Given the description of an element on the screen output the (x, y) to click on. 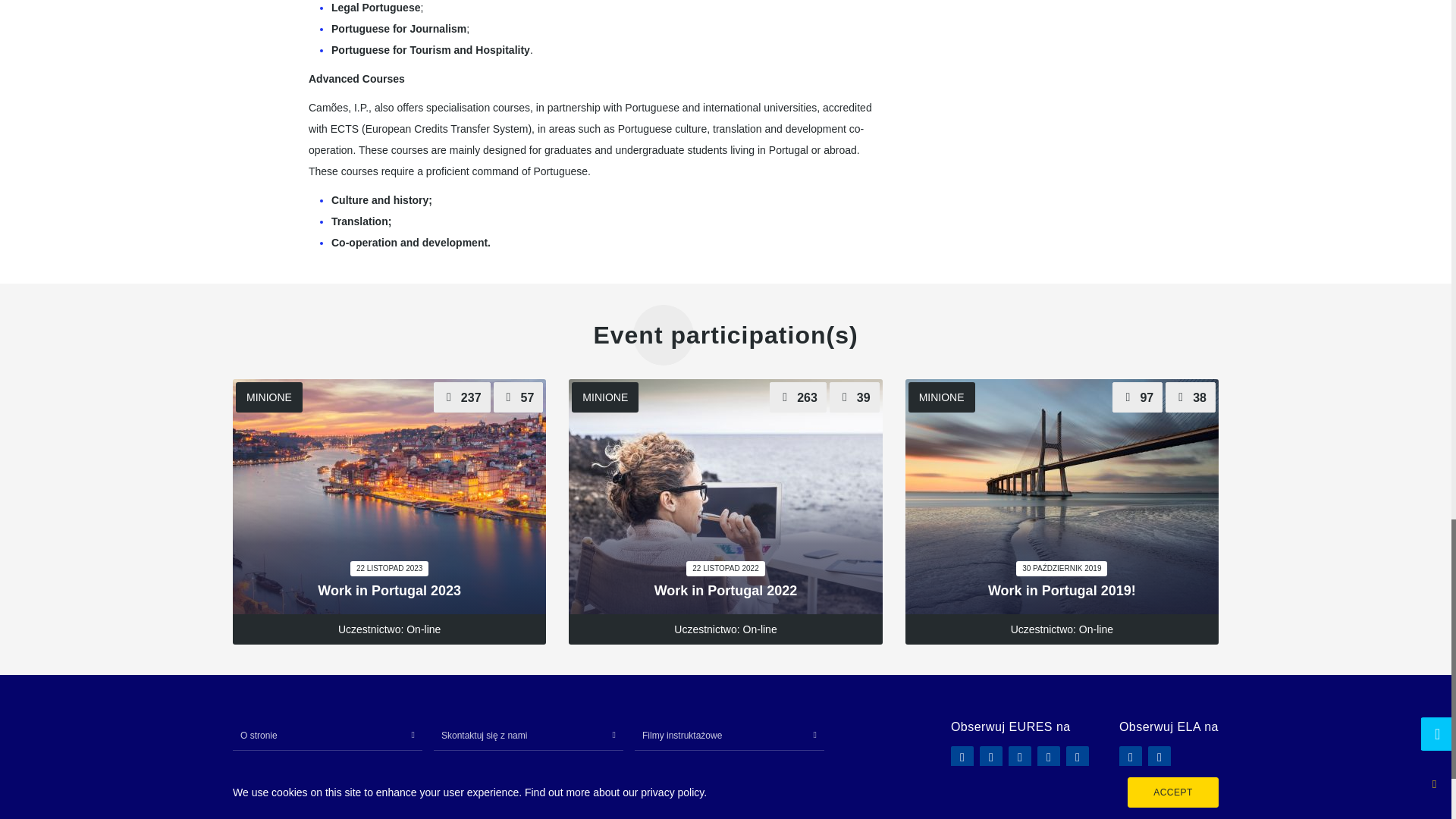
EURES na LinkedIn (1019, 757)
ELA na LinkedIn (1130, 757)
EURES na Facebook (962, 757)
ELA na X (1159, 757)
EURES na Flickr (991, 757)
EURES na X (1047, 757)
EURES na YouTube (1077, 757)
